Given the description of an element on the screen output the (x, y) to click on. 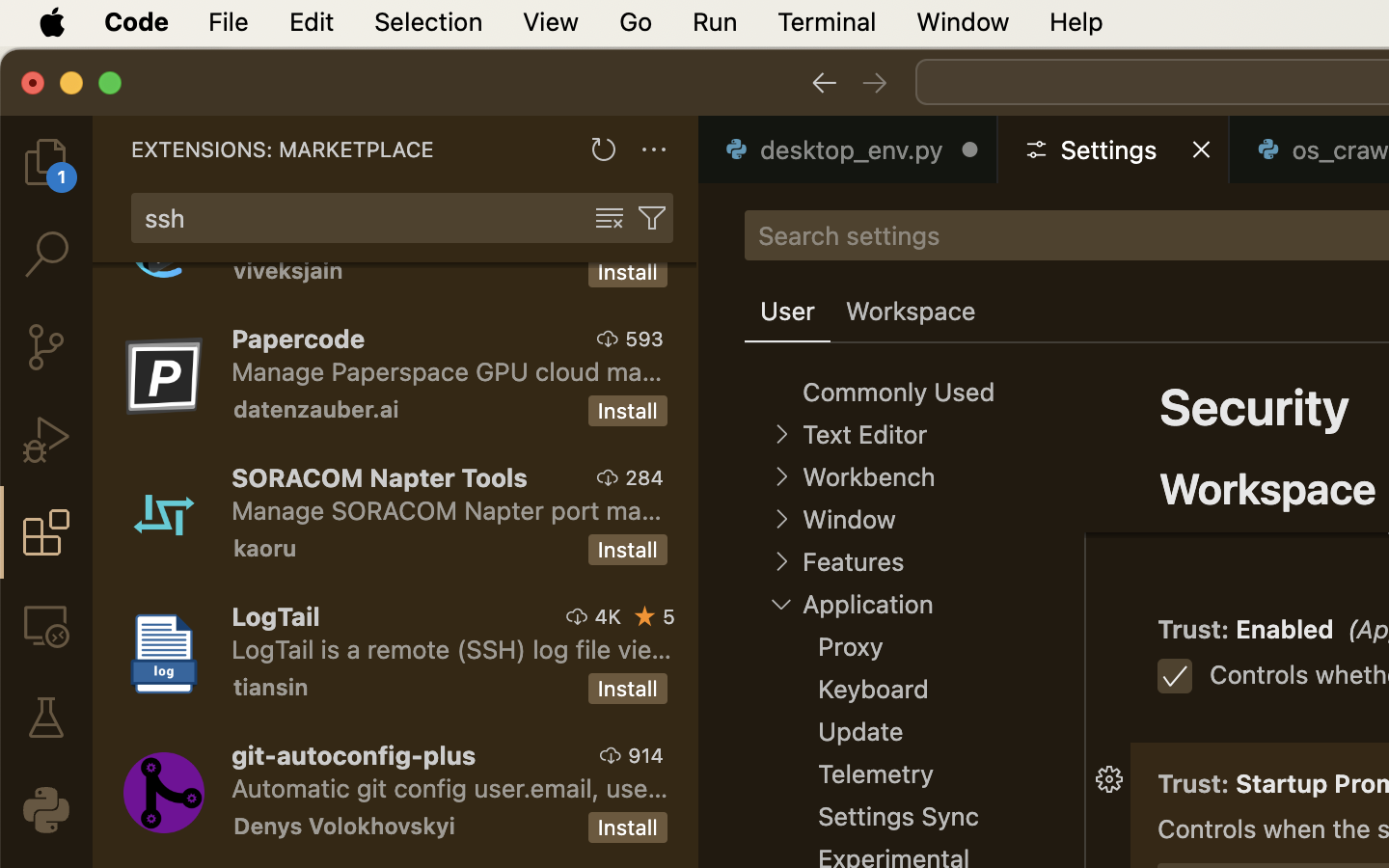
0  Element type: AXRadioButton (46, 161)
SORACOM Napter Tools Element type: AXStaticText (379, 476)
1 Element type: AXRadioButton (787, 311)
Automatic git config user.email, user.name, SSH key setting for vscode Element type: AXStaticText (450, 787)
 Element type: AXStaticText (780, 476)
